Given the description of an element on the screen output the (x, y) to click on. 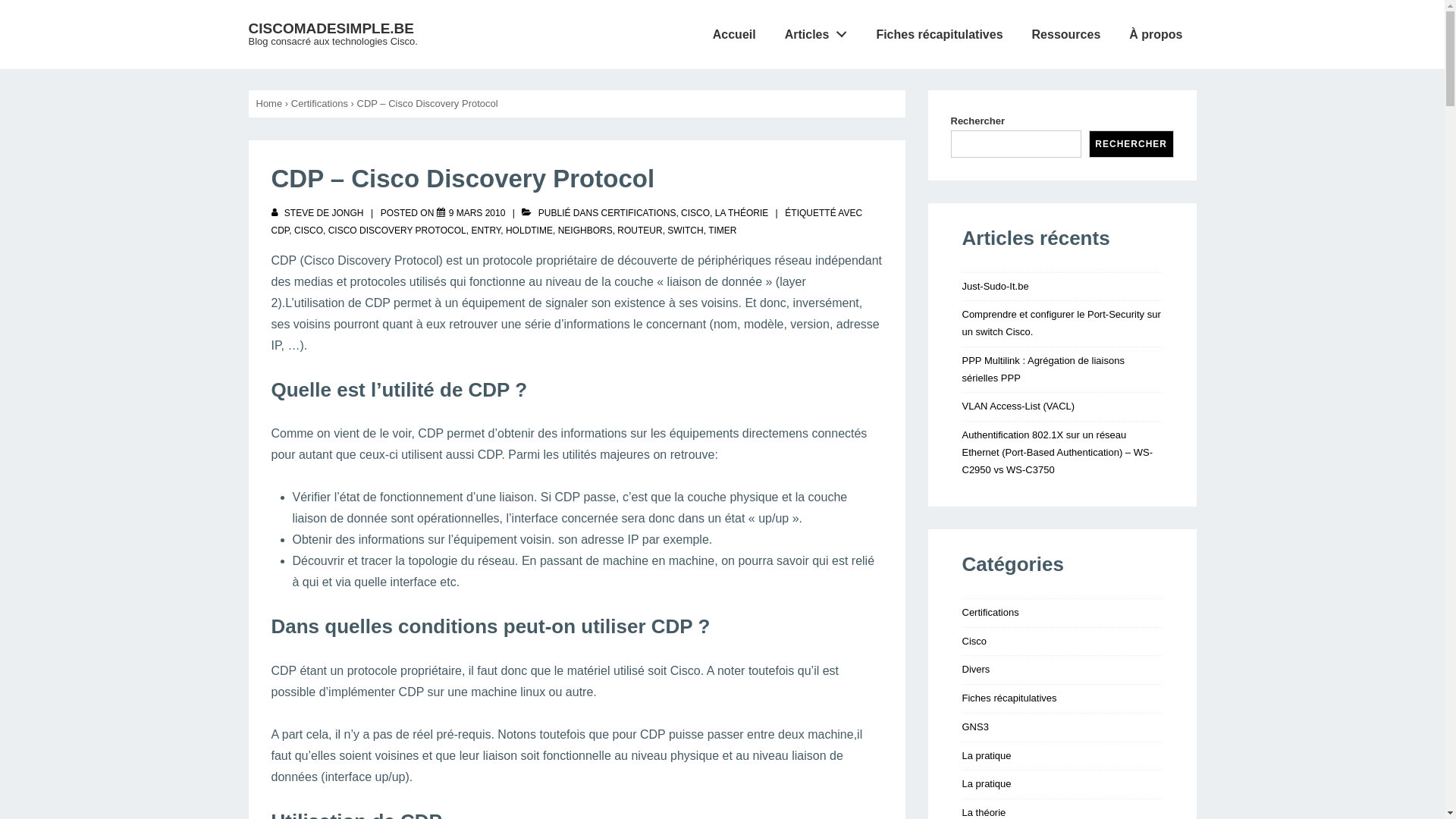
TIMER Element type: text (722, 230)
La pratique Element type: text (985, 783)
Just-Sudo-It.be Element type: text (994, 285)
Articles Element type: text (816, 34)
Certifications Element type: text (989, 612)
La pratique Element type: text (985, 754)
HOLDTIME Element type: text (528, 230)
Ressources Element type: text (1066, 34)
Accueil Element type: text (734, 34)
NEIGHBORS Element type: text (585, 230)
VLAN Access-List (VACL) Element type: text (1017, 405)
GNS3 Element type: text (974, 726)
ENTRY Element type: text (485, 230)
CISCO Element type: text (308, 230)
Cisco Element type: text (973, 640)
CISCOMADESIMPLE.BE Element type: text (331, 28)
ROUTEUR Element type: text (639, 230)
CISCO Element type: text (694, 212)
CISCO DISCOVERY PROTOCOL Element type: text (397, 230)
9 MARS 2010 Element type: text (476, 212)
STEVE DE JONGH Element type: text (318, 212)
CERTIFICATIONS Element type: text (637, 212)
Home Element type: text (269, 103)
SWITCH Element type: text (684, 230)
CDP Element type: text (280, 230)
RECHERCHER Element type: text (1130, 143)
Divers Element type: text (975, 668)
Certifications Element type: text (319, 103)
